Given the description of an element on the screen output the (x, y) to click on. 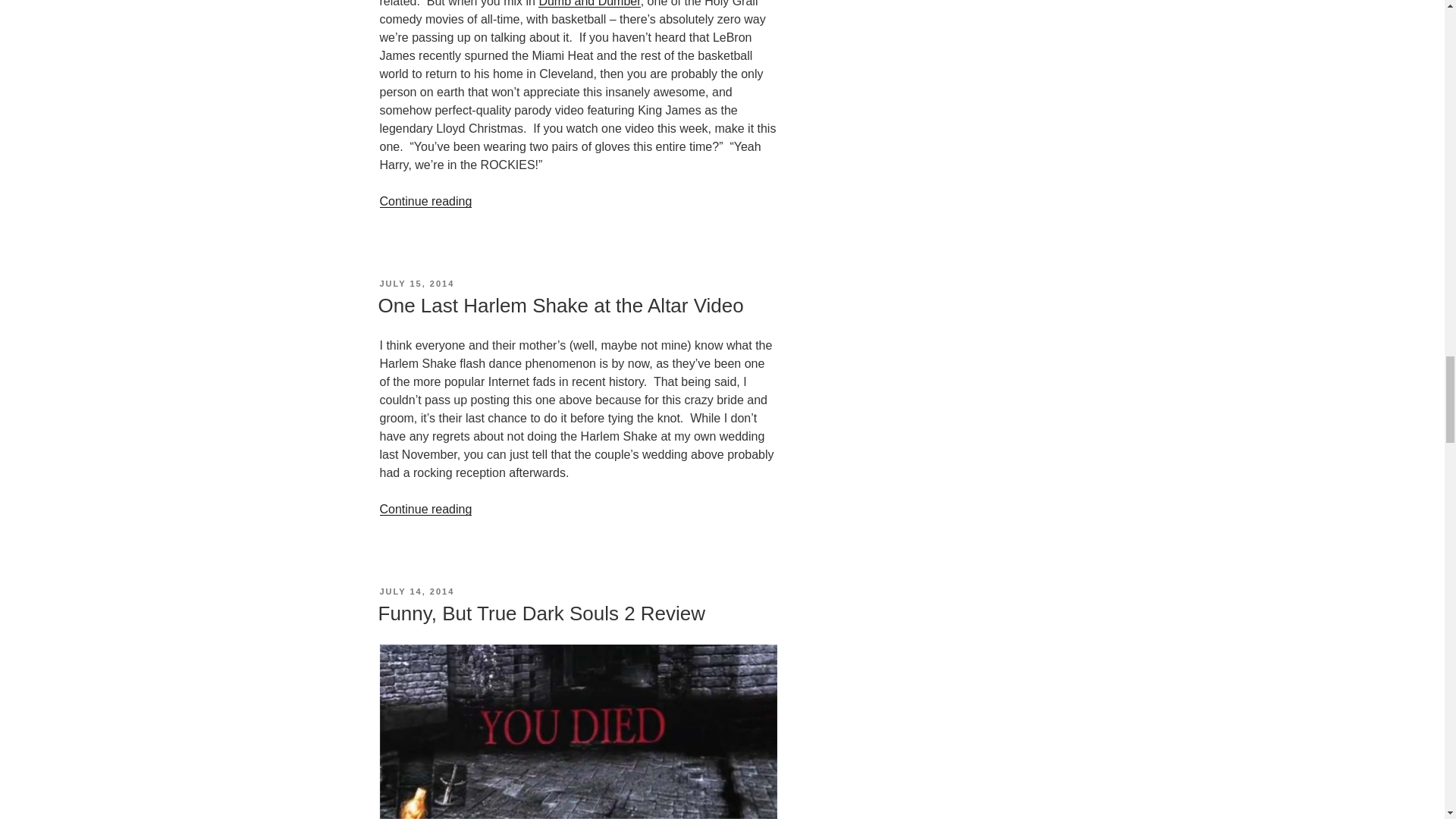
JULY 15, 2014 (416, 283)
Funny, But True Dark Souls 2 Review (540, 612)
JULY 14, 2014 (416, 591)
Dumb and Dumber (589, 3)
One Last Harlem Shake at the Altar Video (559, 305)
